Given the description of an element on the screen output the (x, y) to click on. 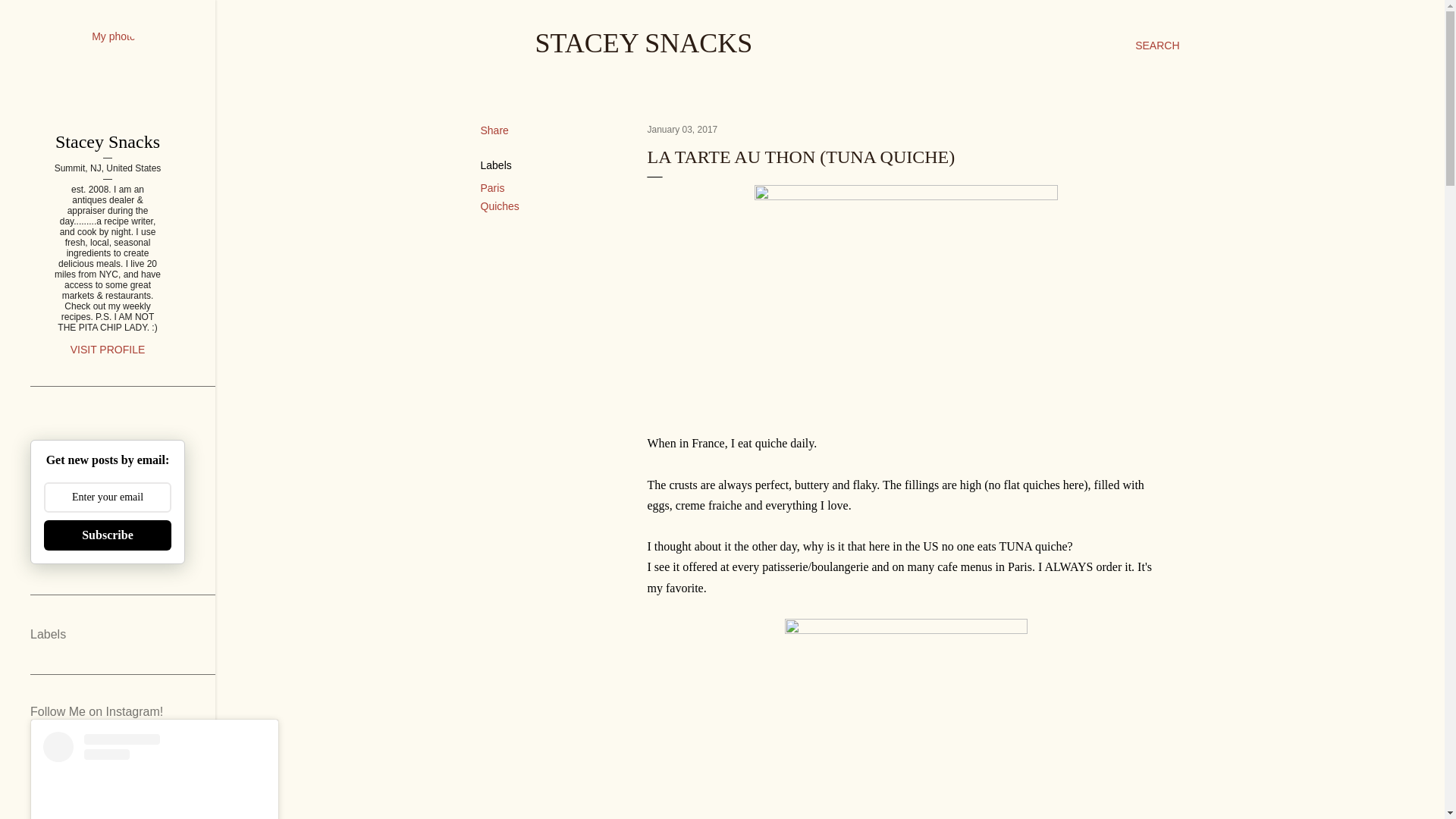
Quiches (499, 205)
January 03, 2017 (682, 129)
STACEY SNACKS (643, 42)
Share (494, 130)
SEARCH (1157, 45)
Paris (492, 187)
permanent link (682, 129)
